Given the description of an element on the screen output the (x, y) to click on. 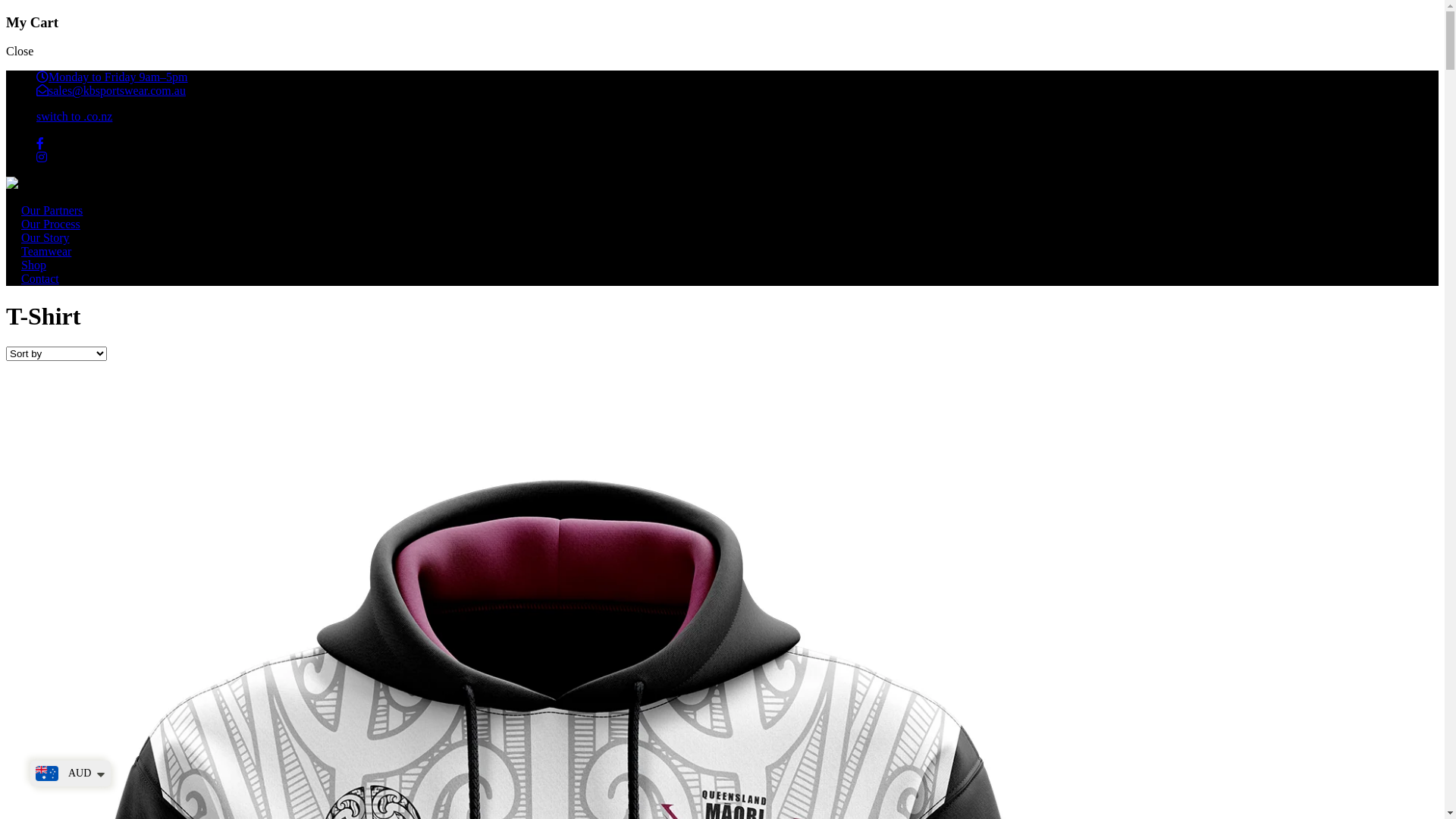
Our Story Element type: text (45, 237)
Contact Element type: text (40, 278)
Our Process Element type: text (50, 223)
sales@kbsportswear.com.au Element type: text (110, 90)
Our Partners Element type: text (51, 209)
Teamwear Element type: text (46, 250)
Shop Element type: text (33, 264)
switch to .co.nz Element type: text (74, 115)
